Given the description of an element on the screen output the (x, y) to click on. 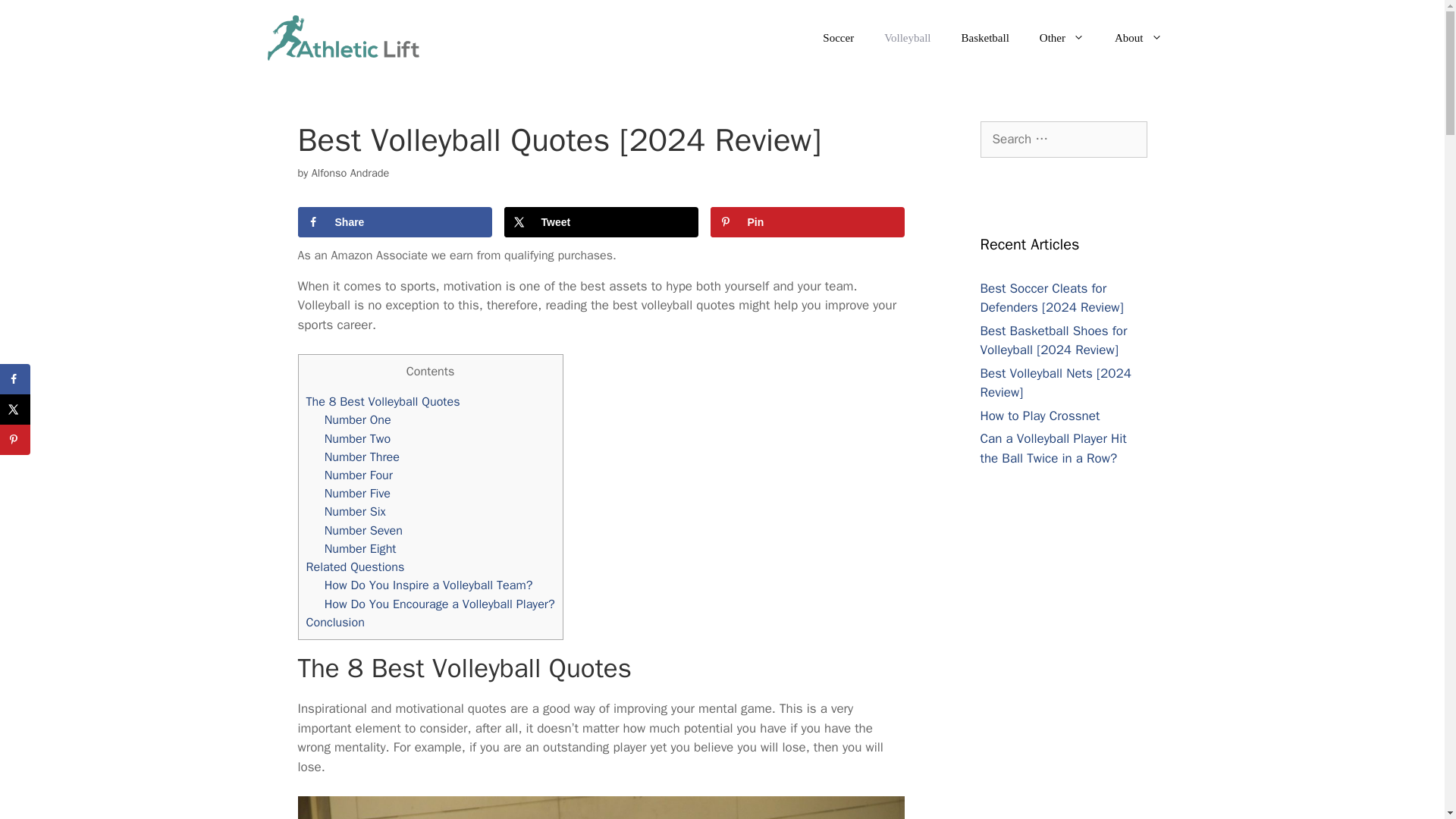
Search for: (1063, 139)
Tweet (600, 222)
Share on X (600, 222)
Share on X (15, 409)
Save to Pinterest (15, 440)
Basketball (985, 37)
Number Three (361, 456)
Number Seven (363, 530)
How Do You Inspire a Volleyball Team? (428, 584)
Number One (357, 419)
